Given the description of an element on the screen output the (x, y) to click on. 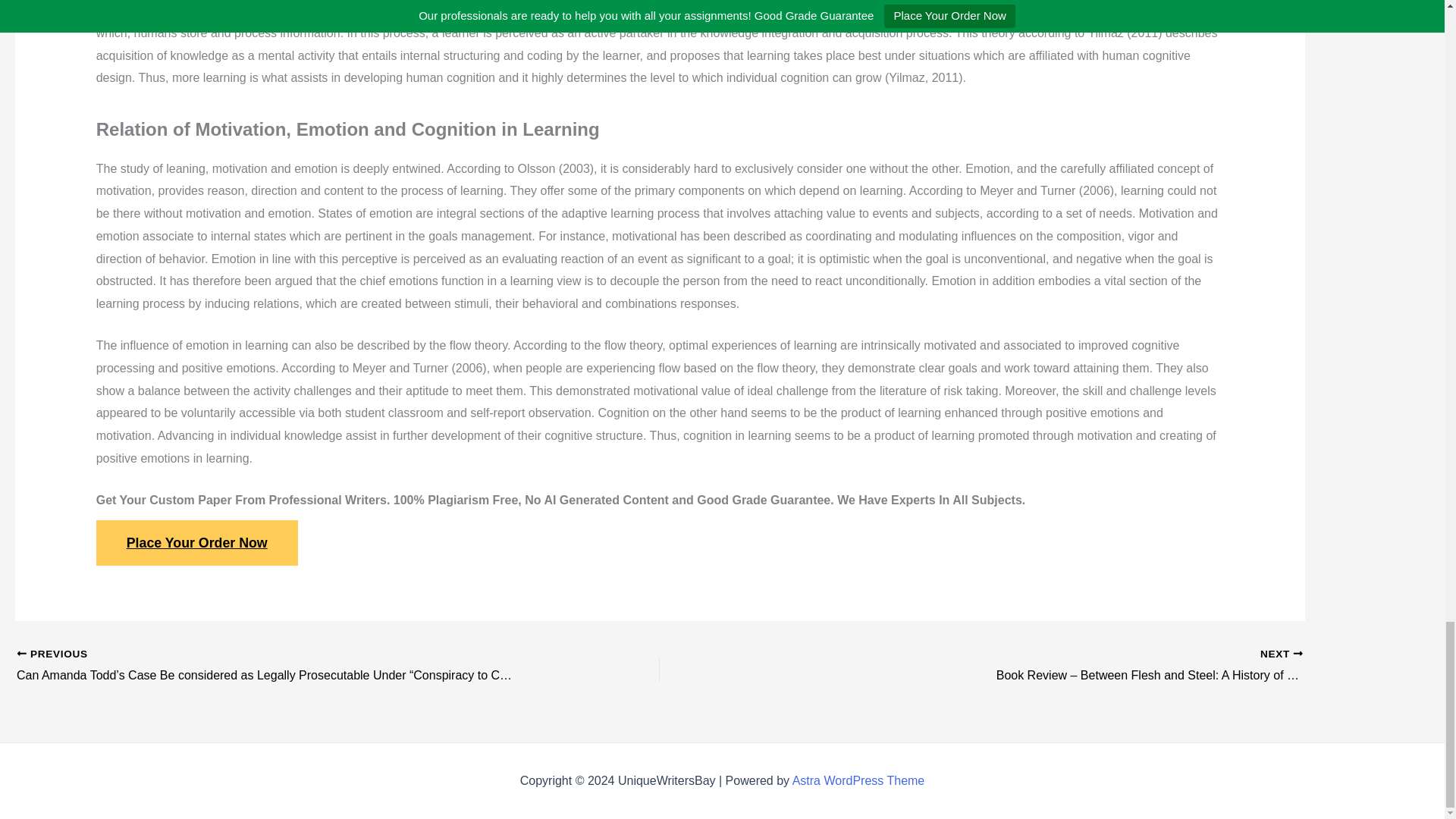
Place Your Order Now (197, 542)
